Given the description of an element on the screen output the (x, y) to click on. 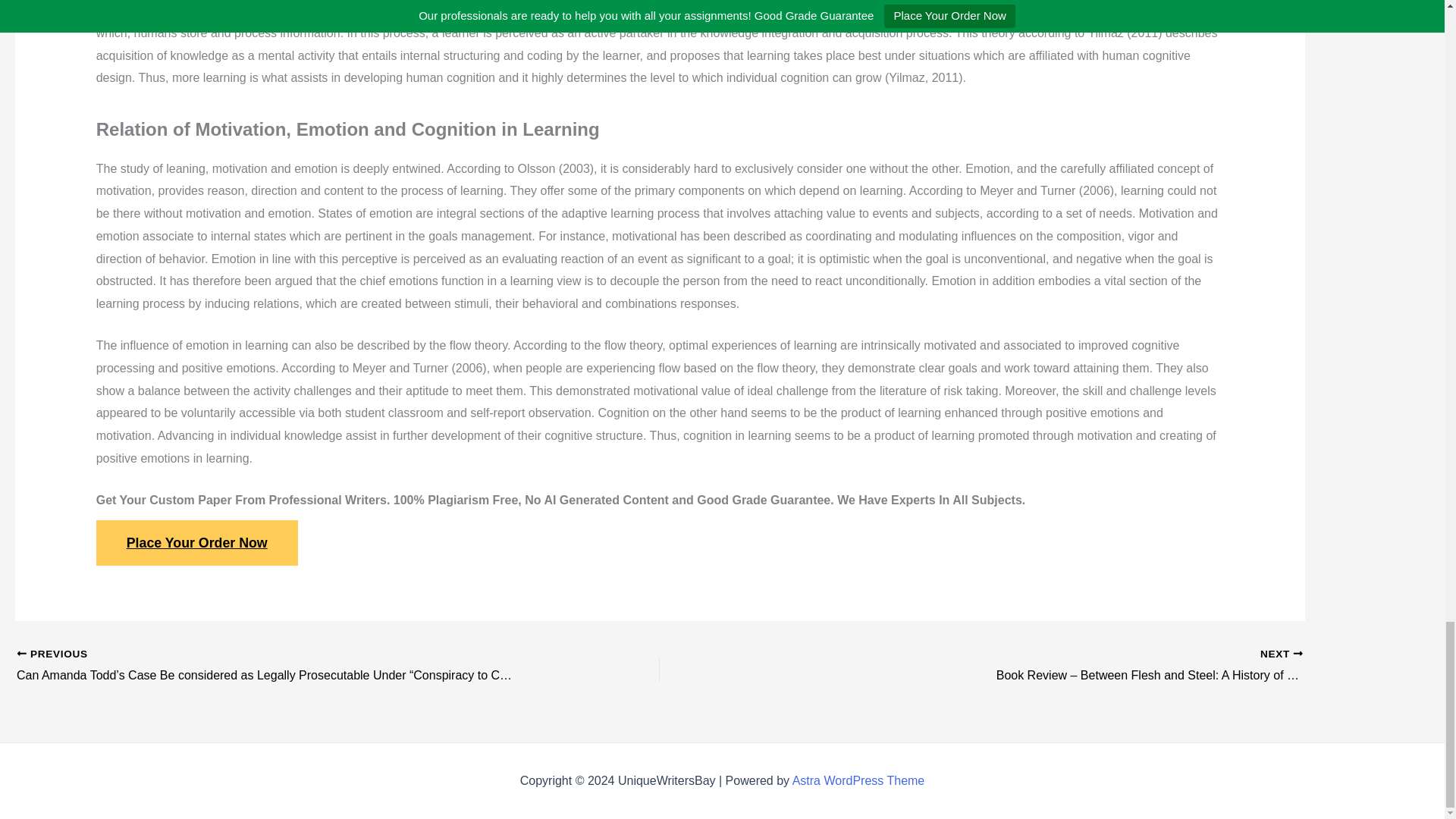
Place Your Order Now (197, 542)
